Given the description of an element on the screen output the (x, y) to click on. 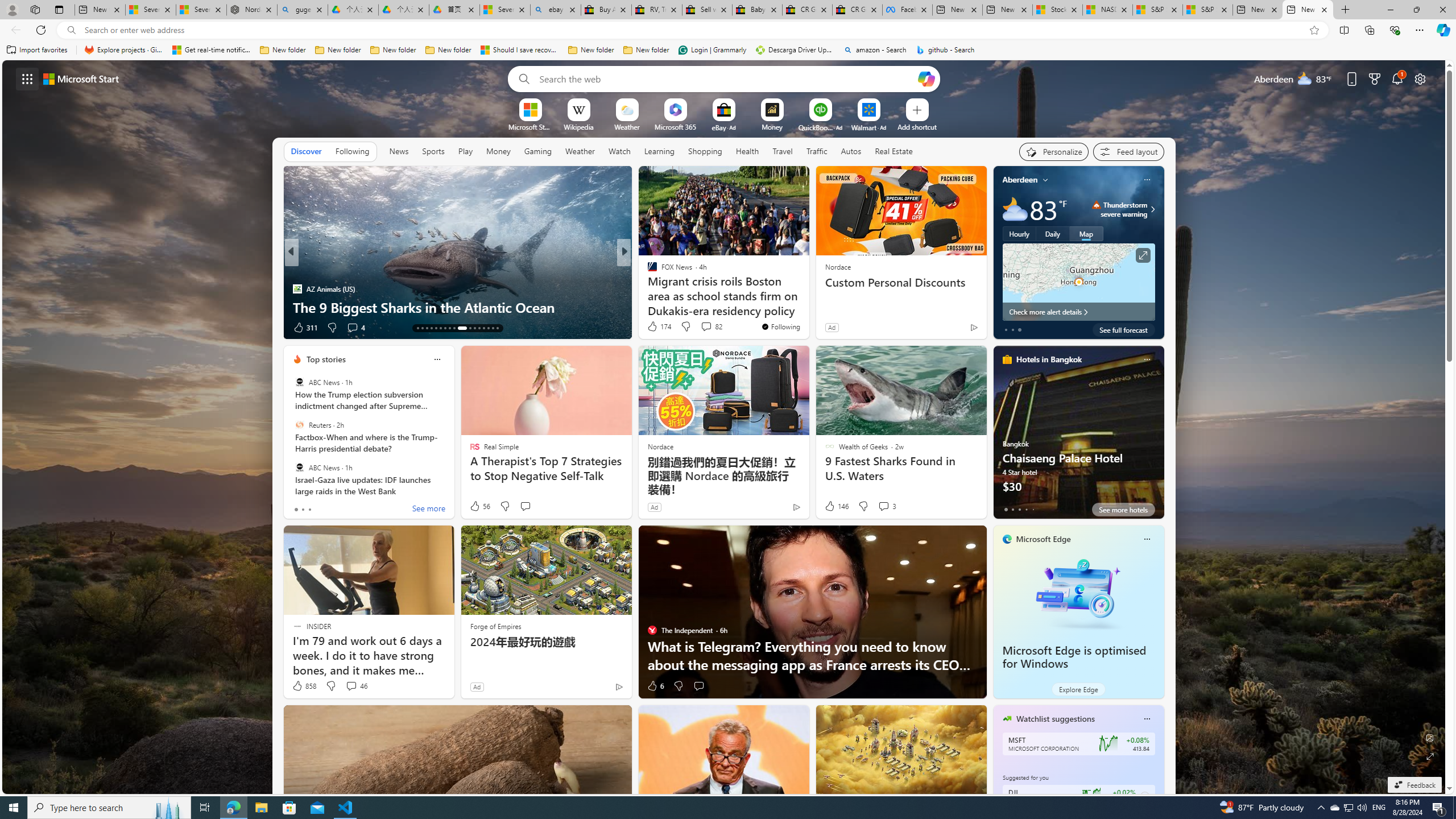
Travel (782, 151)
hotels-header-icon (1006, 358)
Search (520, 78)
Weather (580, 151)
Sell worldwide with eBay (706, 9)
Sports (432, 151)
View comments 88 Comment (6, 327)
tab-2 (1019, 509)
tab-3 (1025, 509)
View comments 4 Comment (355, 327)
